Given the description of an element on the screen output the (x, y) to click on. 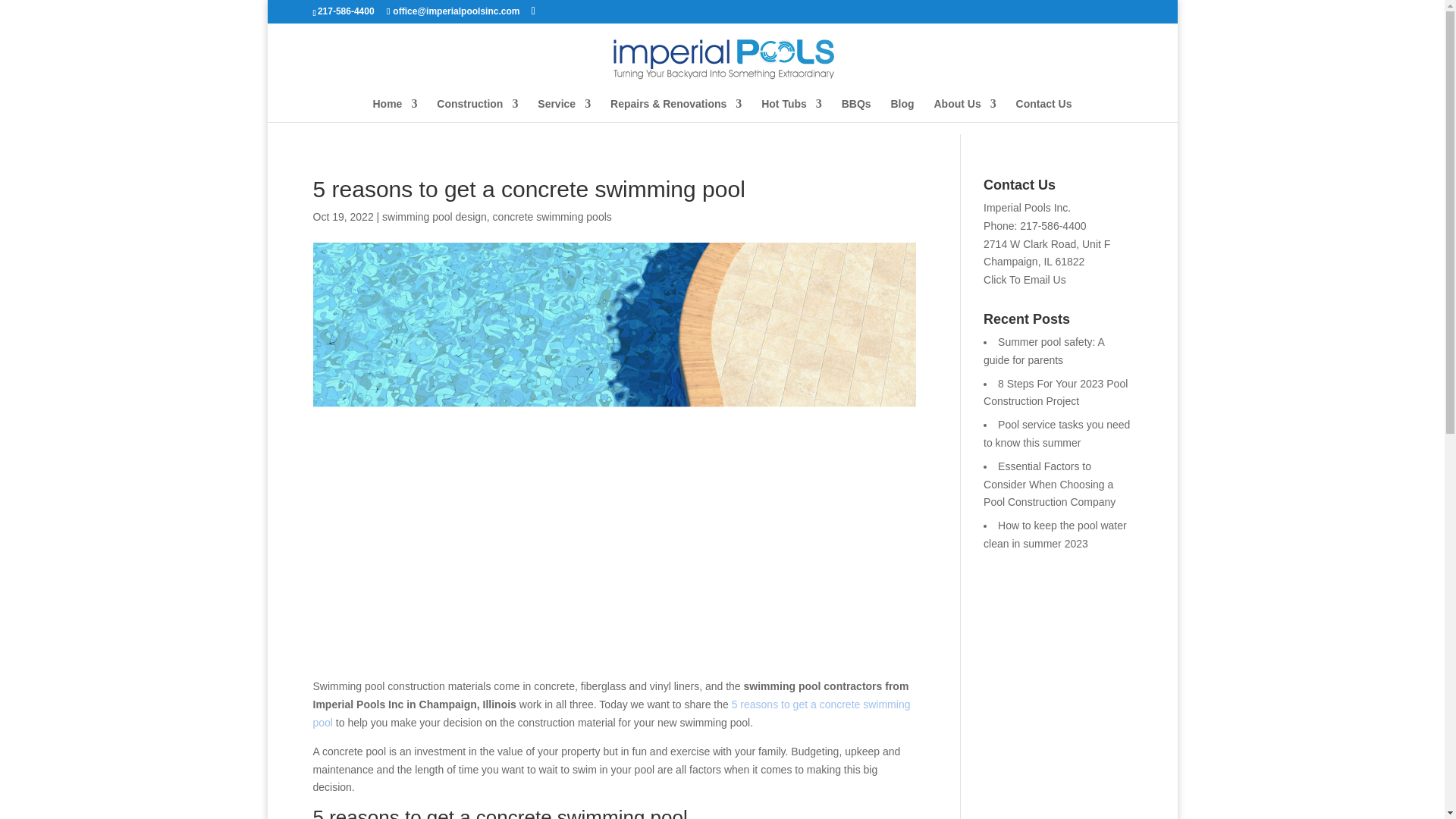
Home (394, 110)
Construction (477, 110)
Hot Tubs (791, 110)
Service (564, 110)
BBQs (855, 110)
